Given the description of an element on the screen output the (x, y) to click on. 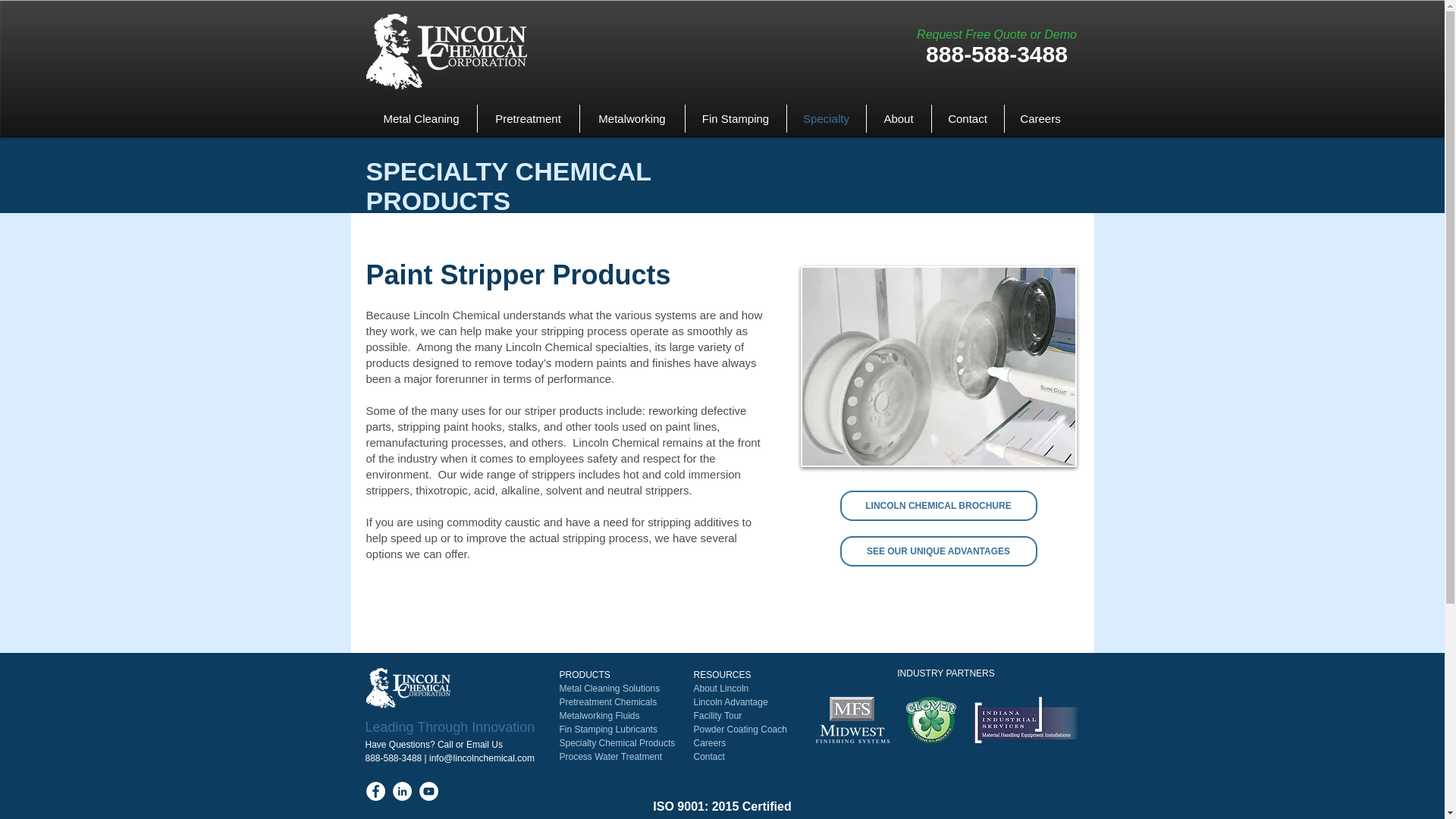
Metal Cleaning Solutions (610, 688)
Fin Stamping (735, 118)
Specialty (826, 118)
About (898, 118)
Lincoln Chemical Corporation (445, 51)
Lincoln Chemical Corporation (407, 688)
Pretreatment Chemicals (608, 701)
Metalworking (631, 118)
Paint Stripper (938, 366)
Contact (967, 118)
